Given the description of an element on the screen output the (x, y) to click on. 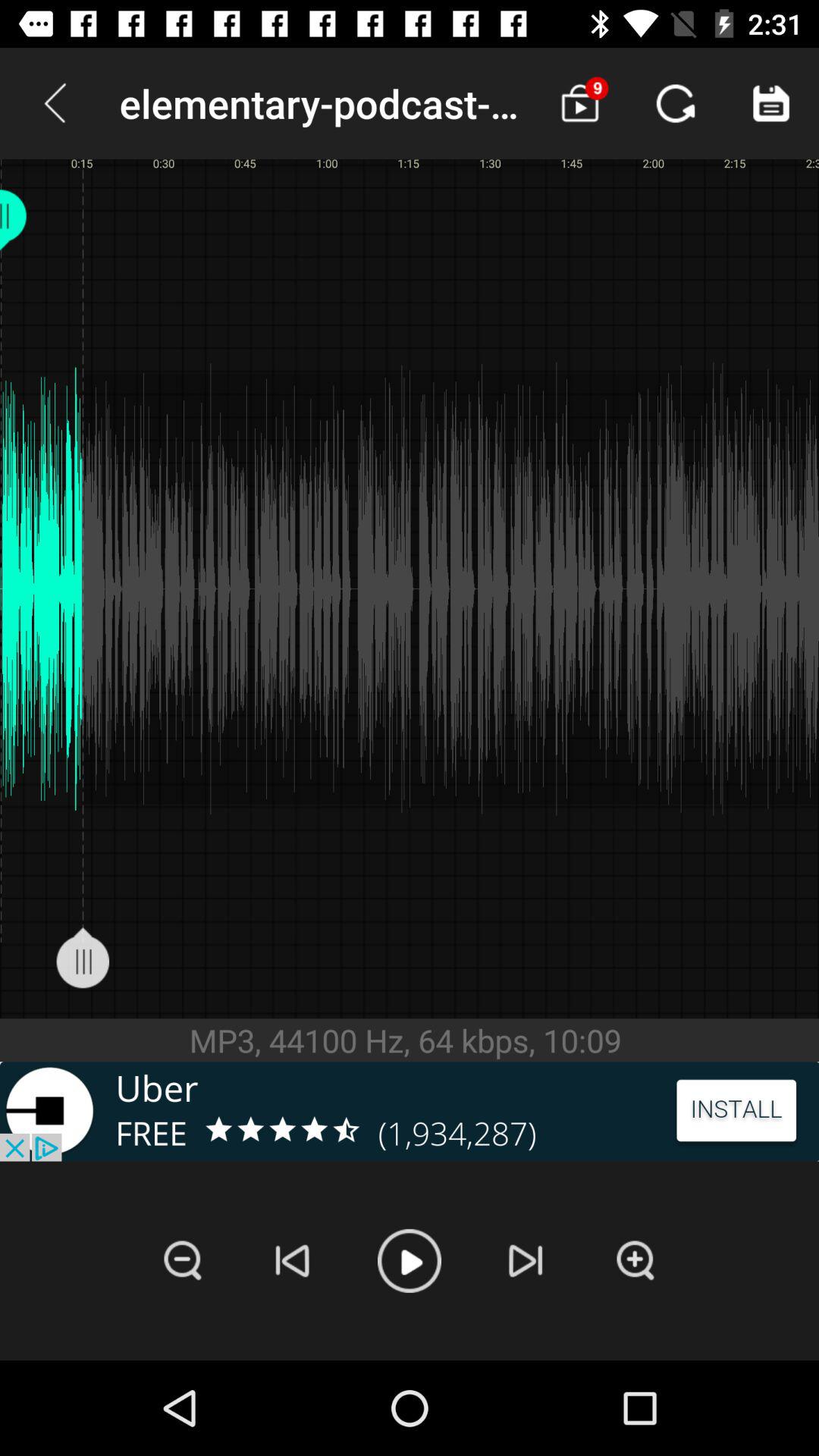
go to advertisement (409, 1111)
